Given the description of an element on the screen output the (x, y) to click on. 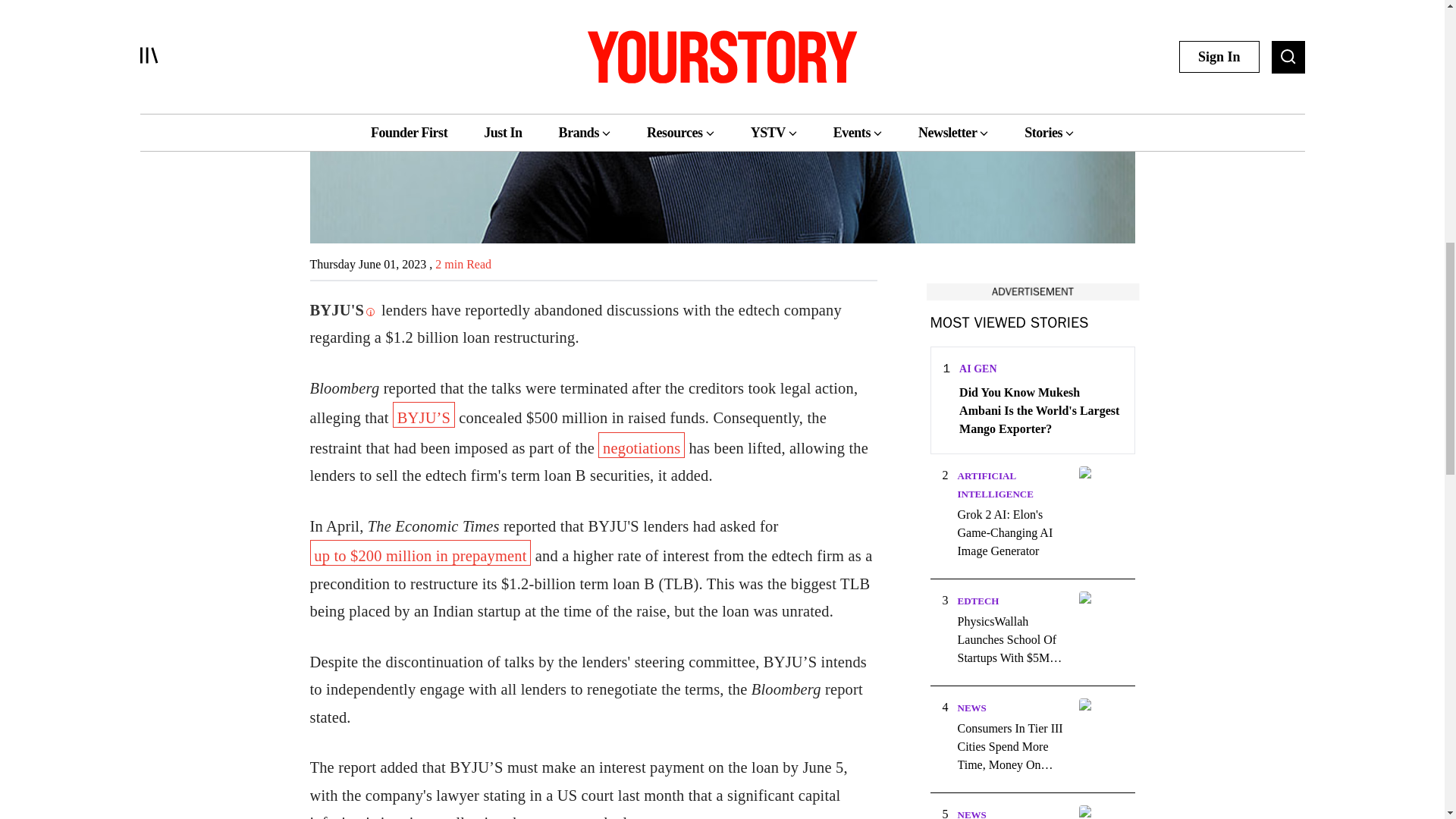
Advertise with us (1032, 291)
negotiations (641, 444)
Grok 2 AI: Elon'S Game-Changing AI Image Generator (1012, 533)
NEWS (970, 707)
ARTIFICIAL INTELLIGENCE (994, 484)
EDTECH (977, 600)
AI GEN (977, 368)
